Given the description of an element on the screen output the (x, y) to click on. 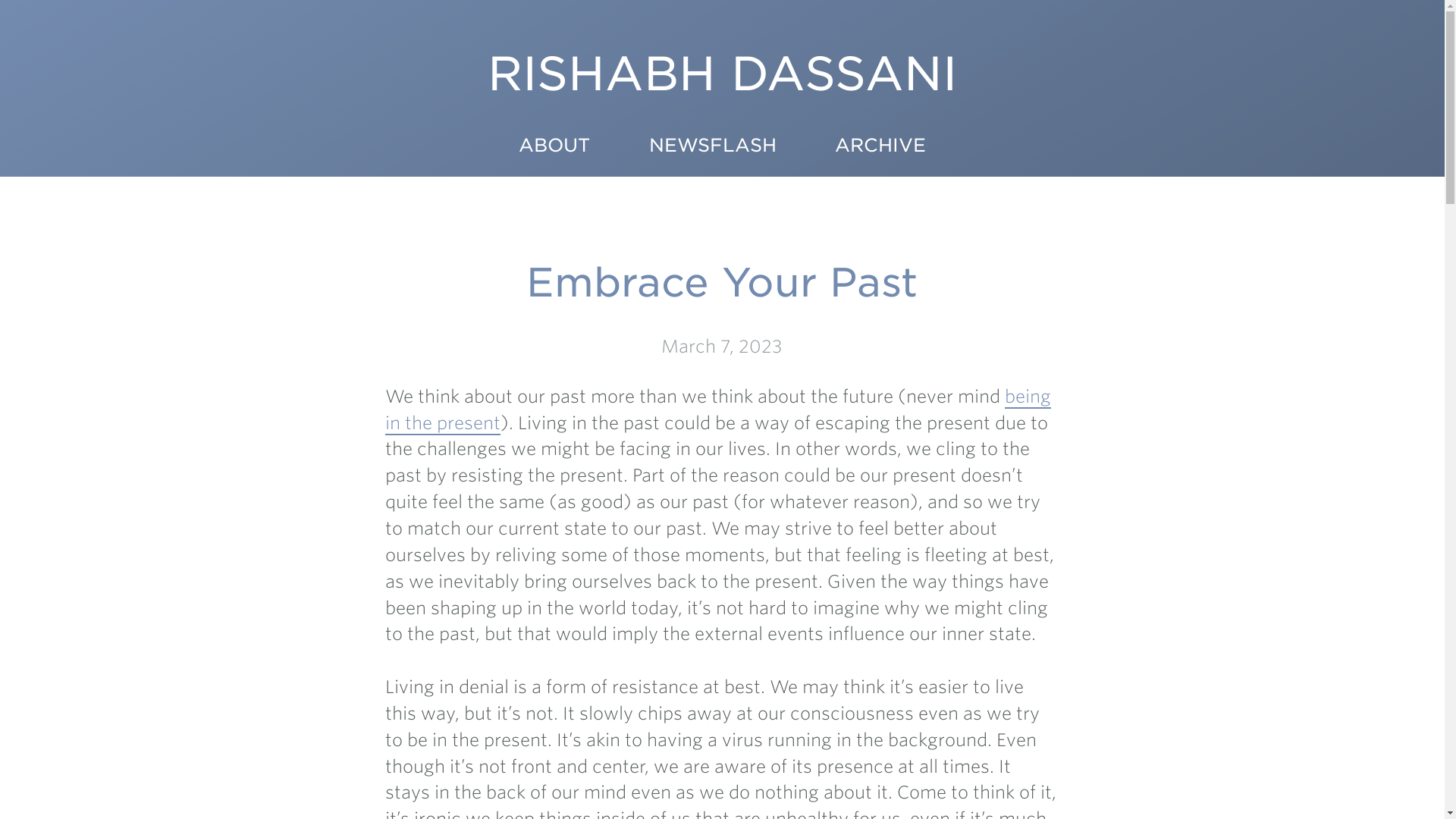
ABOUT (553, 148)
NEWSFLASH (712, 148)
ARCHIVE (880, 148)
RISHABH DASSANI (721, 89)
Embrace Your Past (721, 282)
being in the present (718, 409)
